Given the description of an element on the screen output the (x, y) to click on. 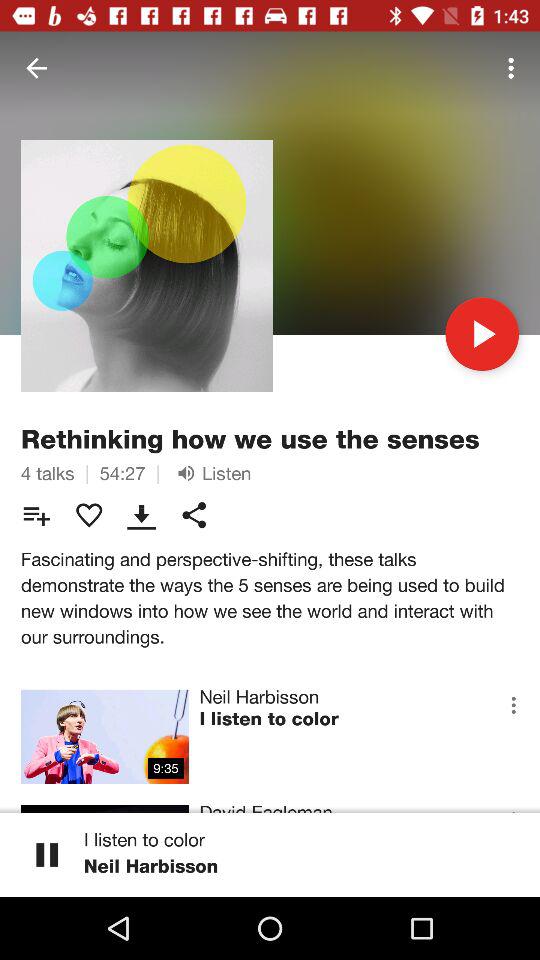
jump until fascinating and perspective item (270, 597)
